Given the description of an element on the screen output the (x, y) to click on. 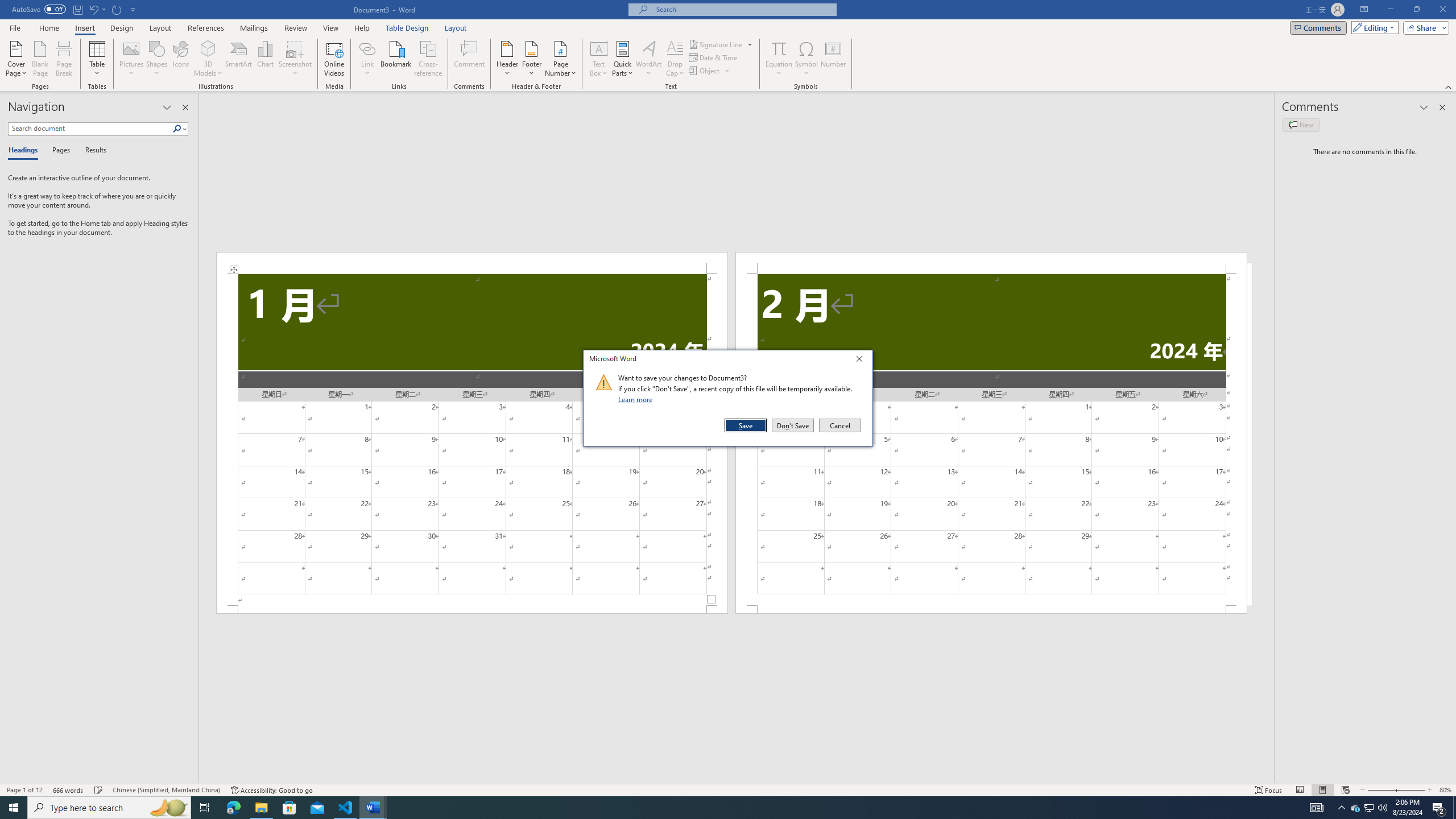
Signature Line (721, 44)
Symbol (806, 58)
Page Number (560, 58)
Number... (833, 58)
Date & Time... (714, 56)
Shapes (156, 58)
